Given the description of an element on the screen output the (x, y) to click on. 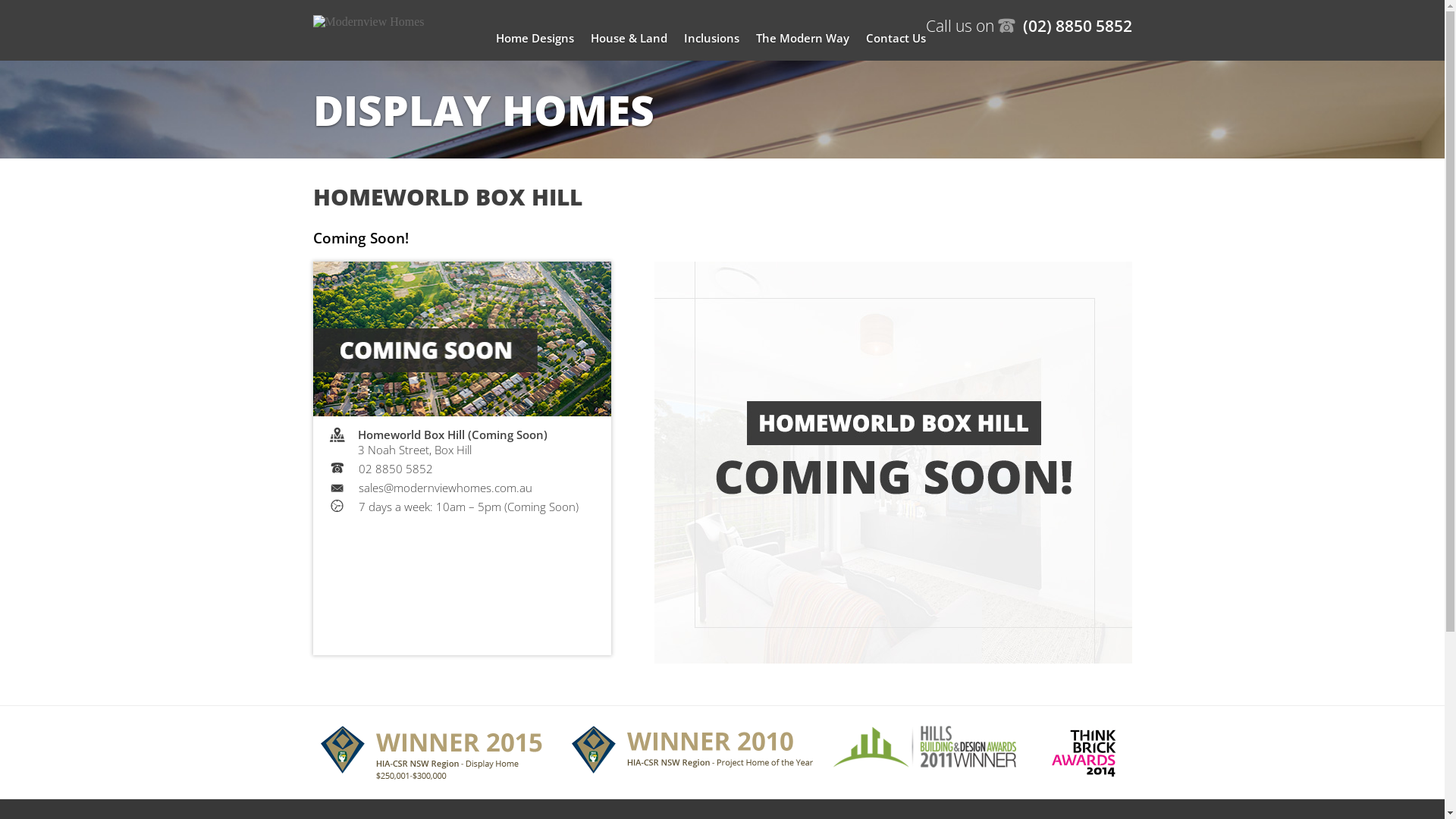
The Modern Way Element type: text (801, 37)
Inclusions Element type: text (711, 37)
House & Land Element type: text (627, 37)
(02) 8850 5852 Element type: text (1064, 25)
Home Designs Element type: text (534, 37)
Contact Us Element type: text (895, 37)
